Given the description of an element on the screen output the (x, y) to click on. 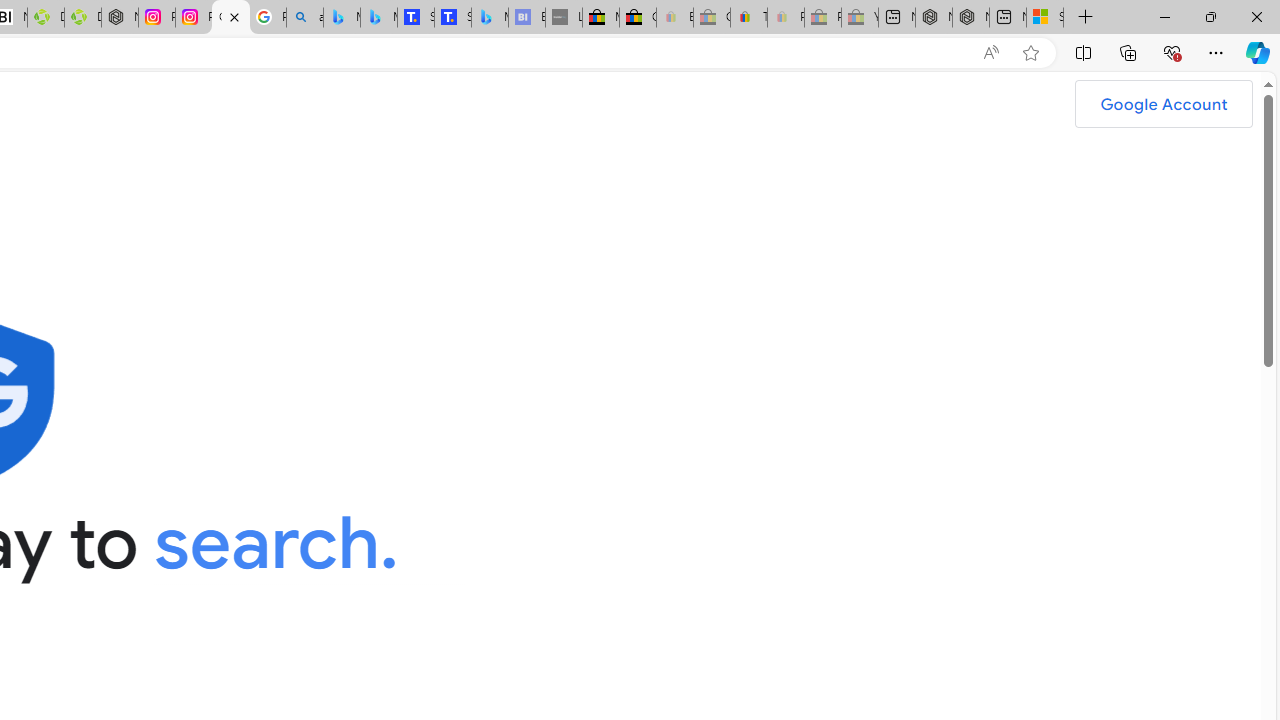
Microsoft Bing Travel - Shangri-La Hotel Bangkok (490, 17)
Payments Terms of Use | eBay.com - Sleeping (785, 17)
Threats and offensive language policy | eBay (748, 17)
Google Account (1164, 103)
Yard, Garden & Outdoor Living - Sleeping (860, 17)
alabama high school quarterback dies - Search (304, 17)
Press Room - eBay Inc. - Sleeping (822, 17)
